Given the description of an element on the screen output the (x, y) to click on. 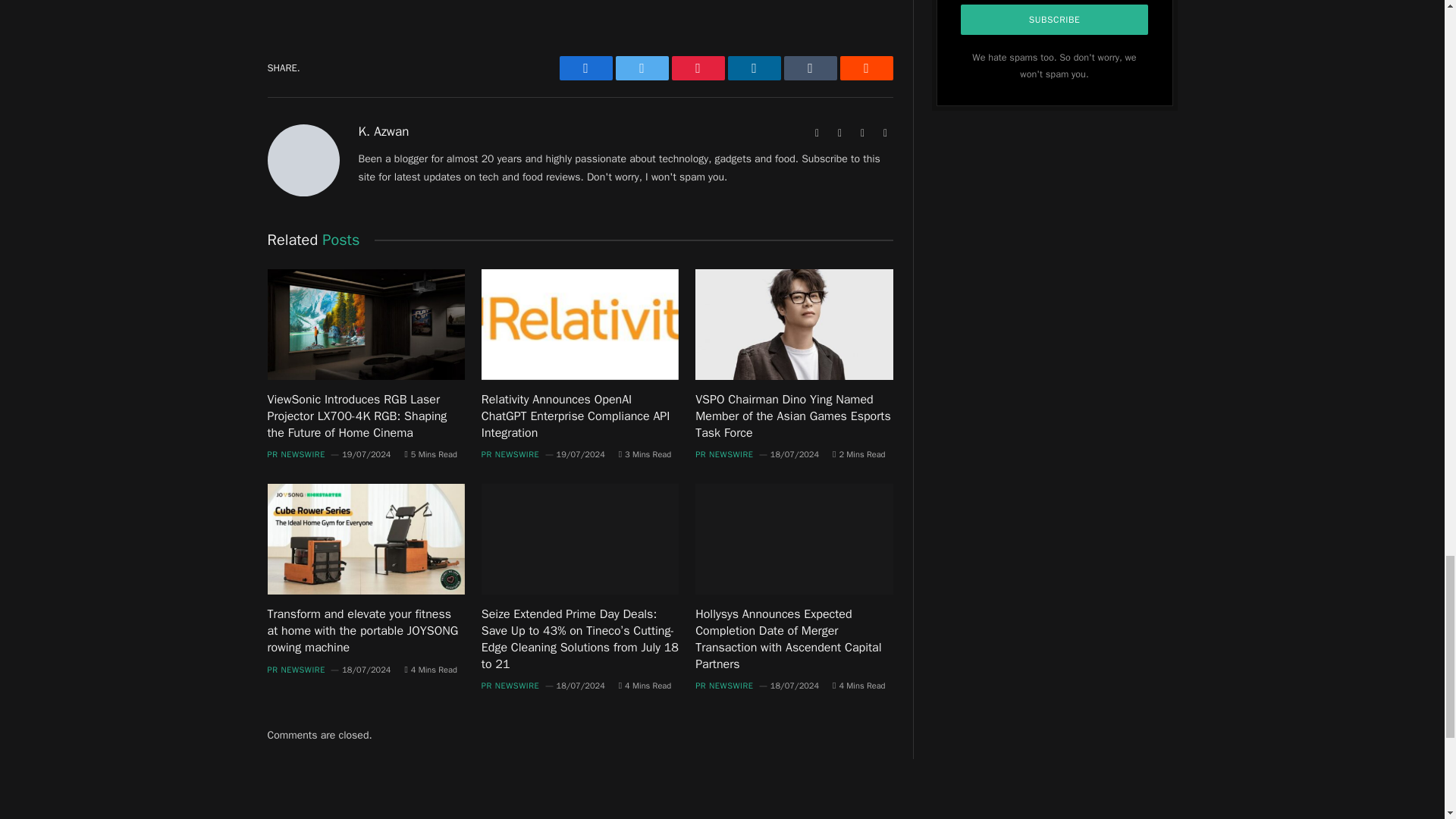
Subscribe (1053, 19)
